Given the description of an element on the screen output the (x, y) to click on. 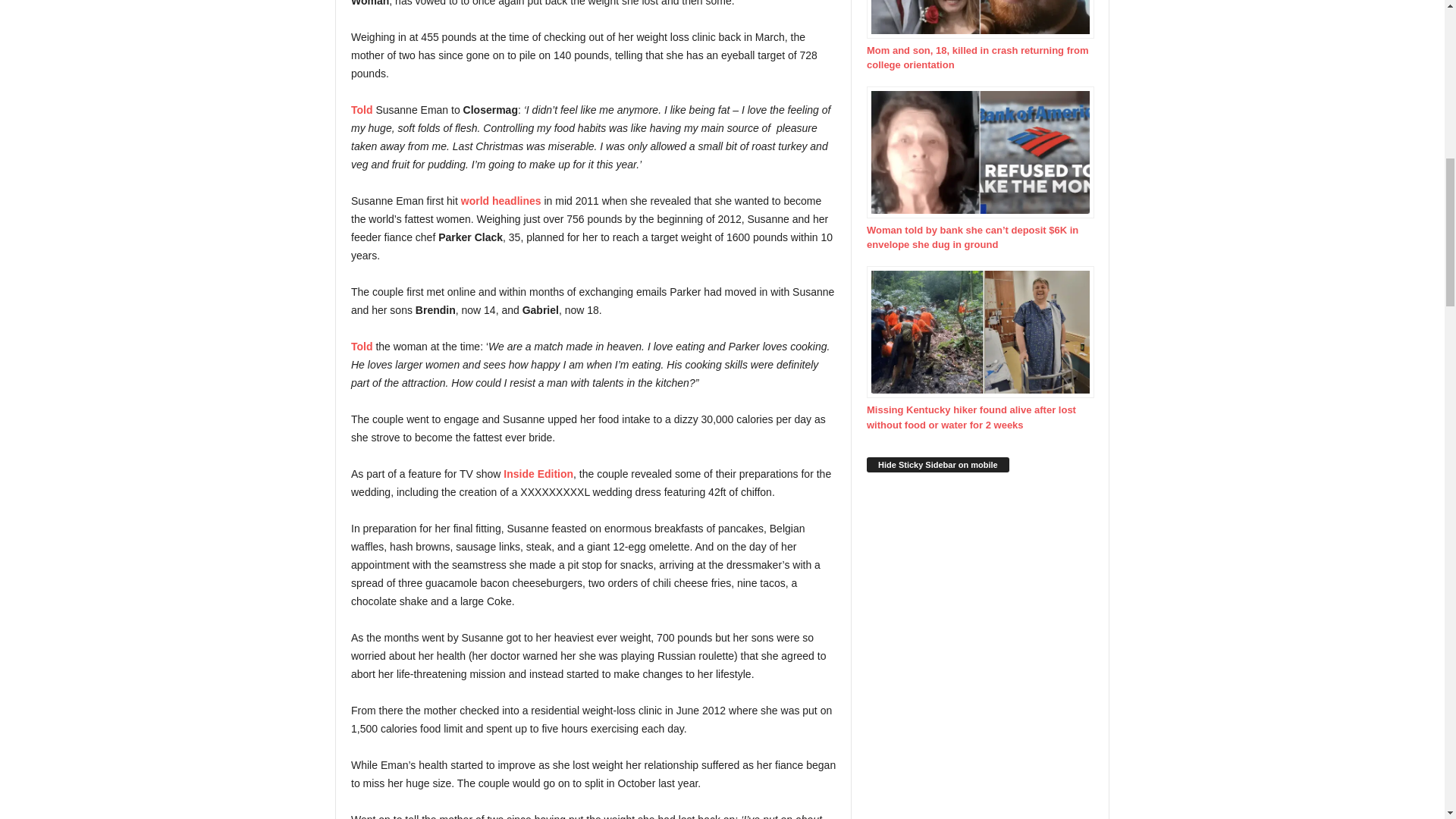
Told (362, 110)
